Given the description of an element on the screen output the (x, y) to click on. 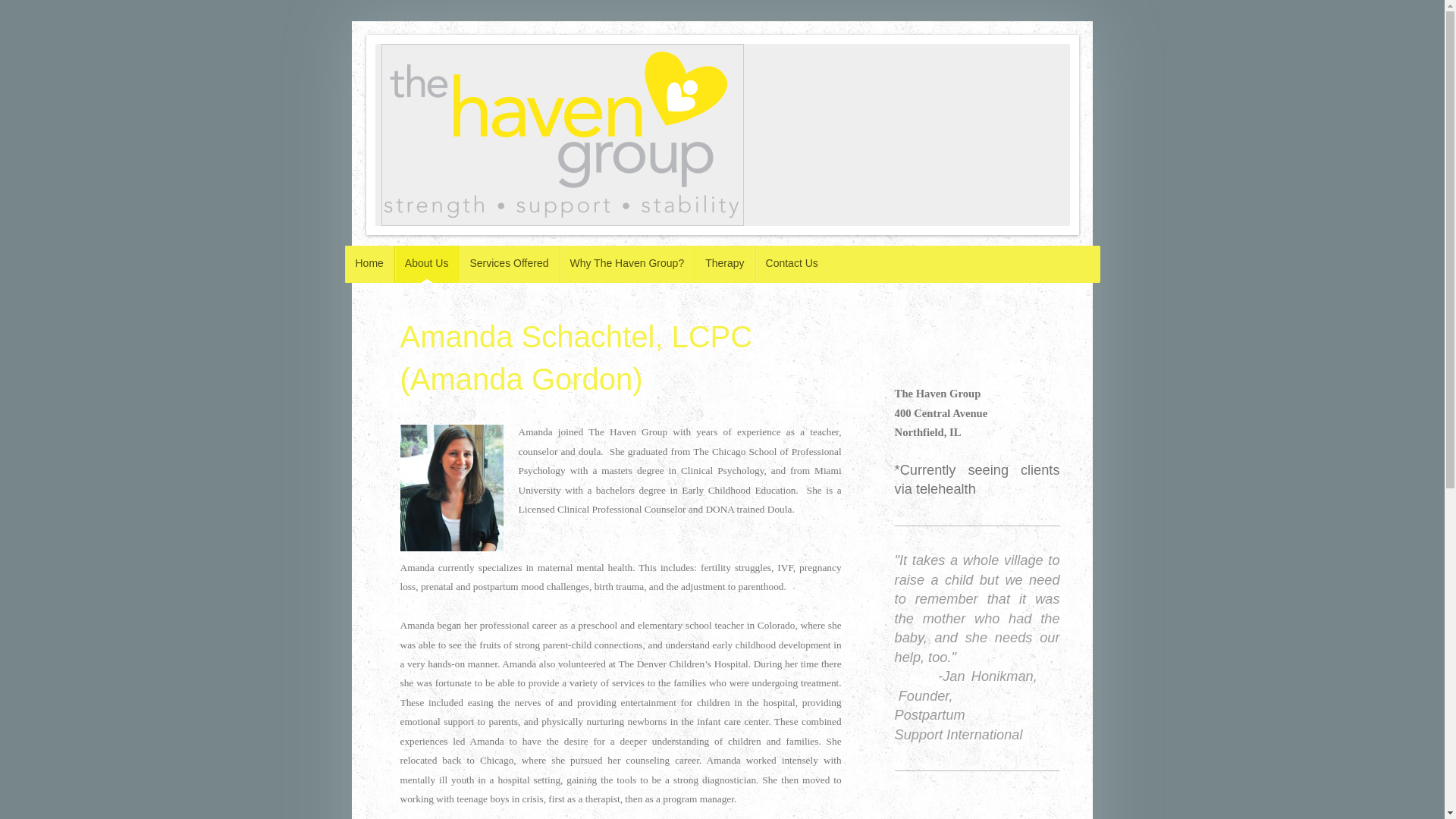
Services Offered (508, 263)
Why The Haven Group? (626, 263)
Therapy (724, 263)
Contact Us (791, 263)
Home (368, 263)
About Us (427, 263)
